Given the description of an element on the screen output the (x, y) to click on. 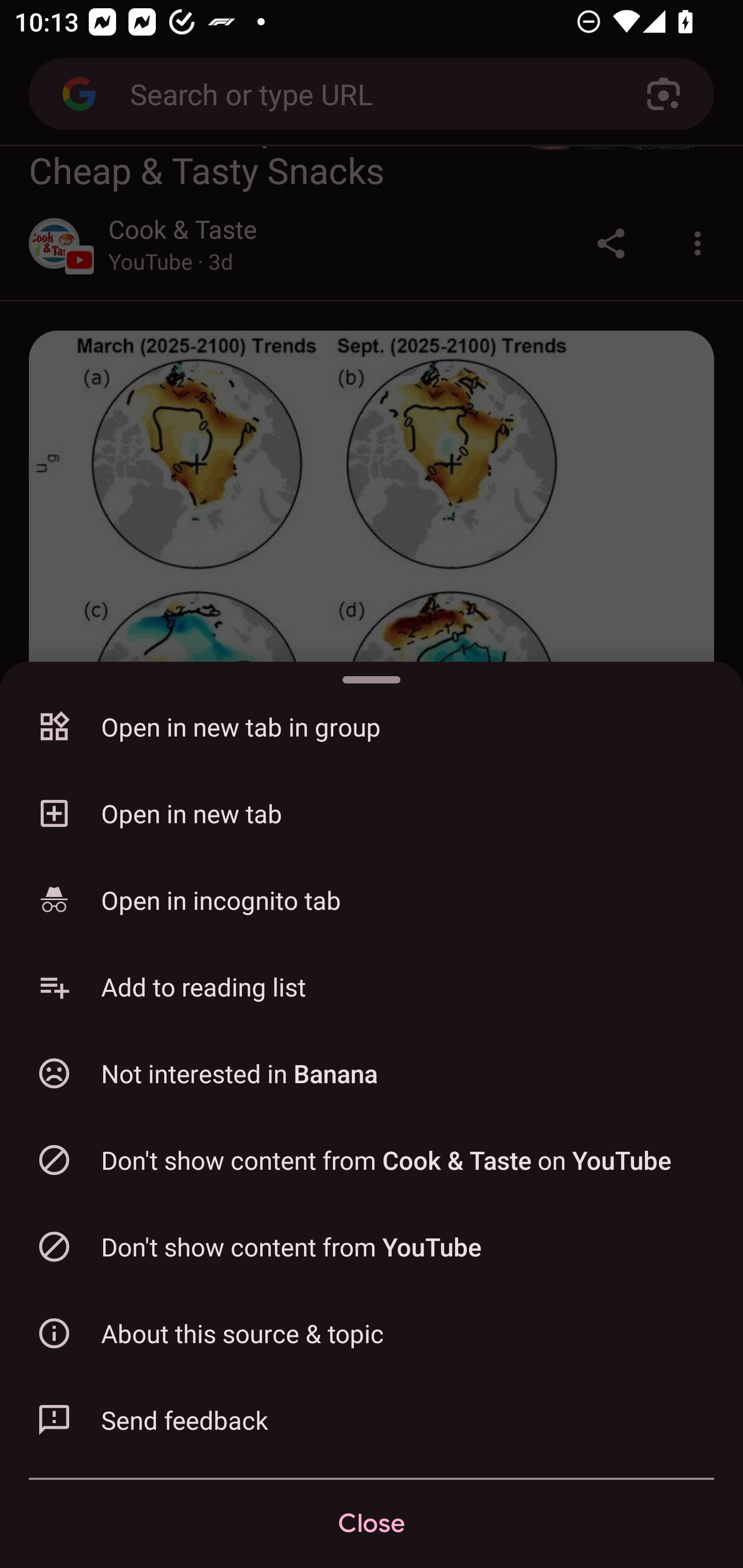
Search with your camera using Google Lens (663, 93)
Search or type URL (364, 92)
Close (371, 1524)
